Given the description of an element on the screen output the (x, y) to click on. 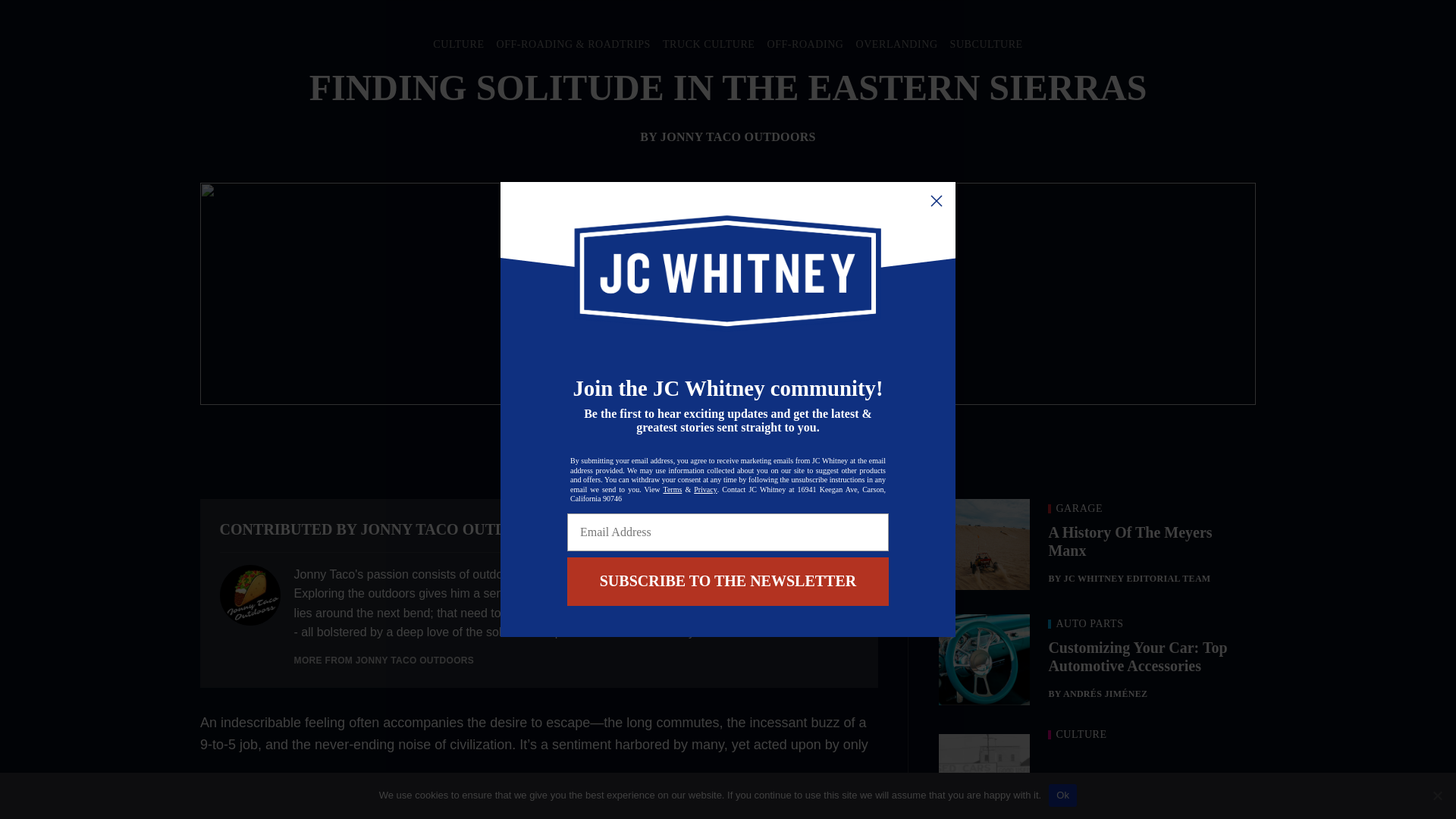
OVERLANDING (896, 44)
SUBCULTURE (986, 44)
CULTURE (457, 44)
TRUCK CULTURE (708, 44)
OFF-ROADING (805, 44)
MORE FROM JONNY TACO OUTDOORS (384, 660)
BY JONNY TACO OUTDOORS (727, 136)
VIEW AUTHOR WEBSITE (794, 528)
